Given the description of an element on the screen output the (x, y) to click on. 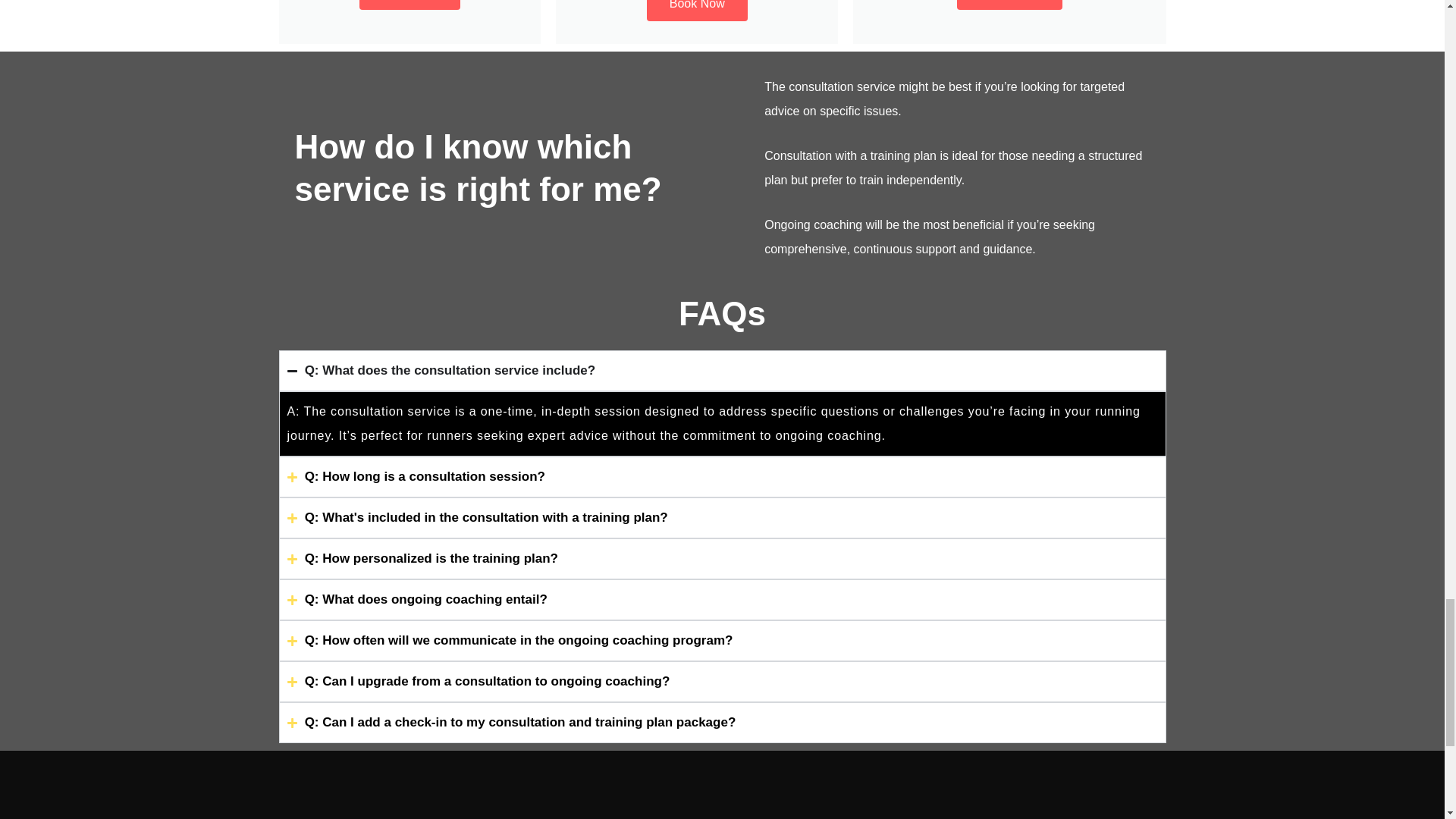
Book Now (697, 10)
Book Now (409, 4)
Apply Here (1009, 4)
